Given the description of an element on the screen output the (x, y) to click on. 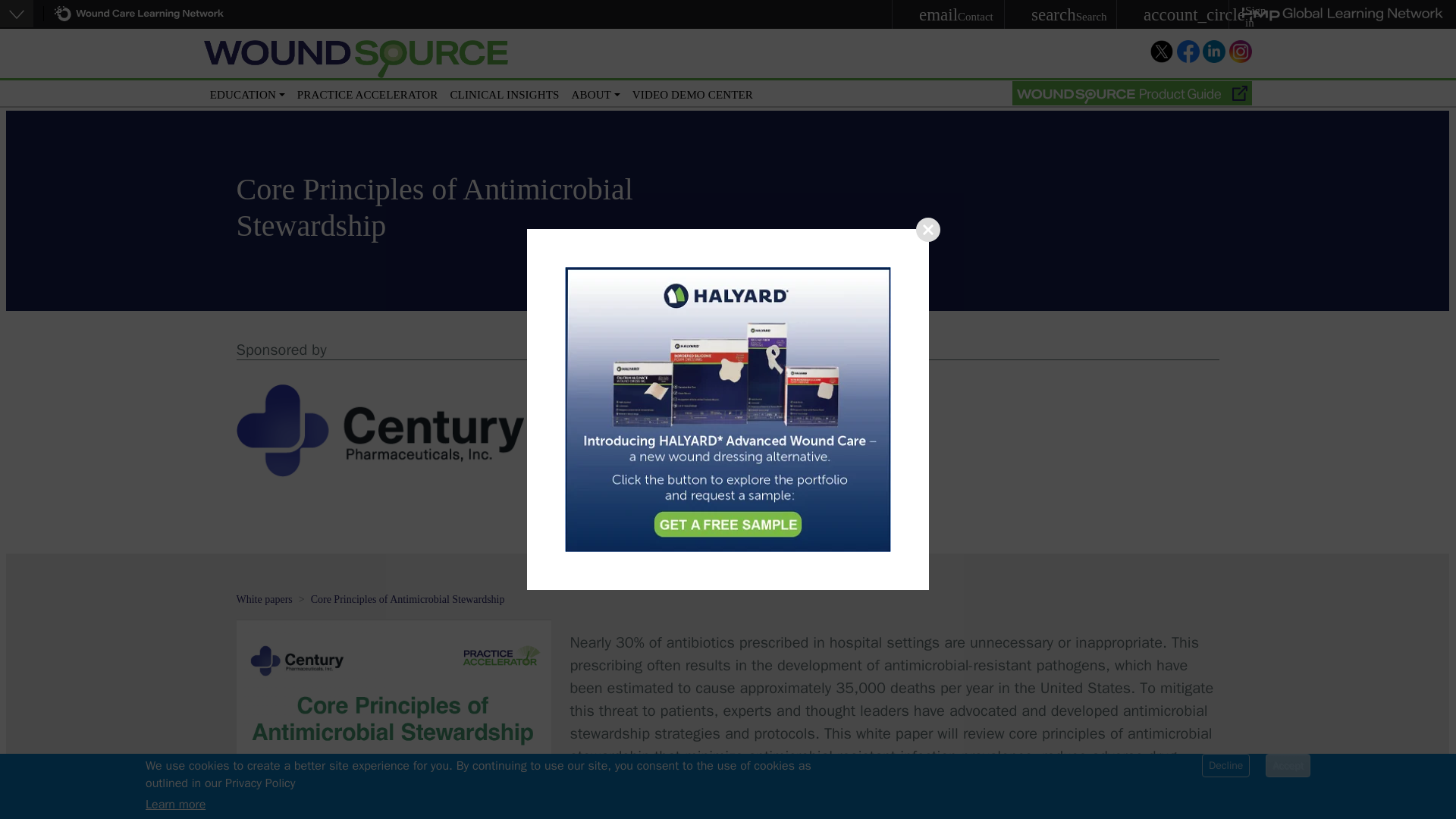
VIDEO DEMO CENTER (692, 92)
ABOUT (596, 92)
PRACTICE ACCELERATOR (367, 92)
EDUCATION (247, 92)
Close (927, 229)
White papers (948, 14)
CLINICAL INSIGHTS (263, 599)
